Given the description of an element on the screen output the (x, y) to click on. 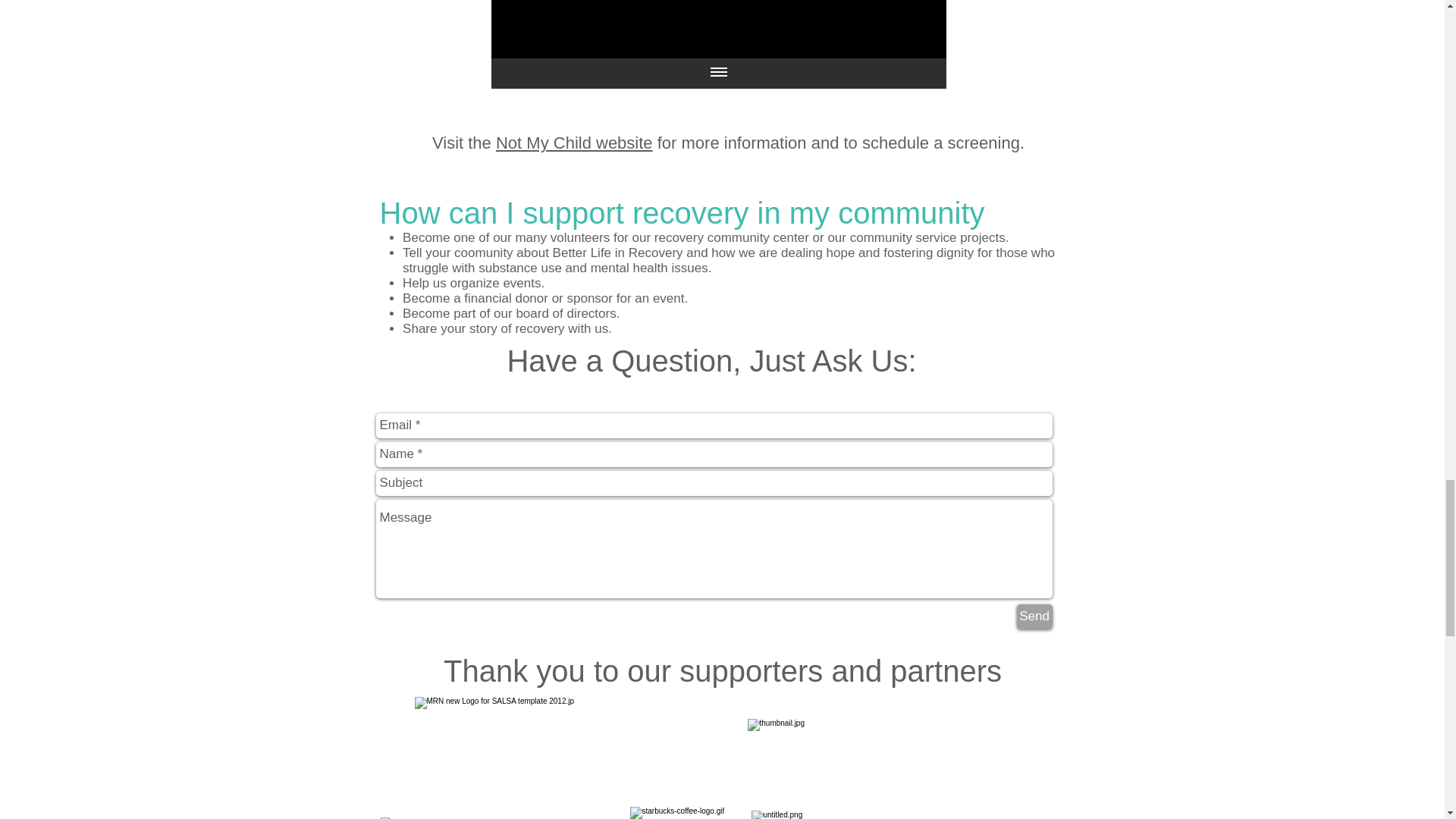
Send (1033, 615)
Share your story of recovery with us. (507, 328)
Not My Child website (574, 142)
